Given the description of an element on the screen output the (x, y) to click on. 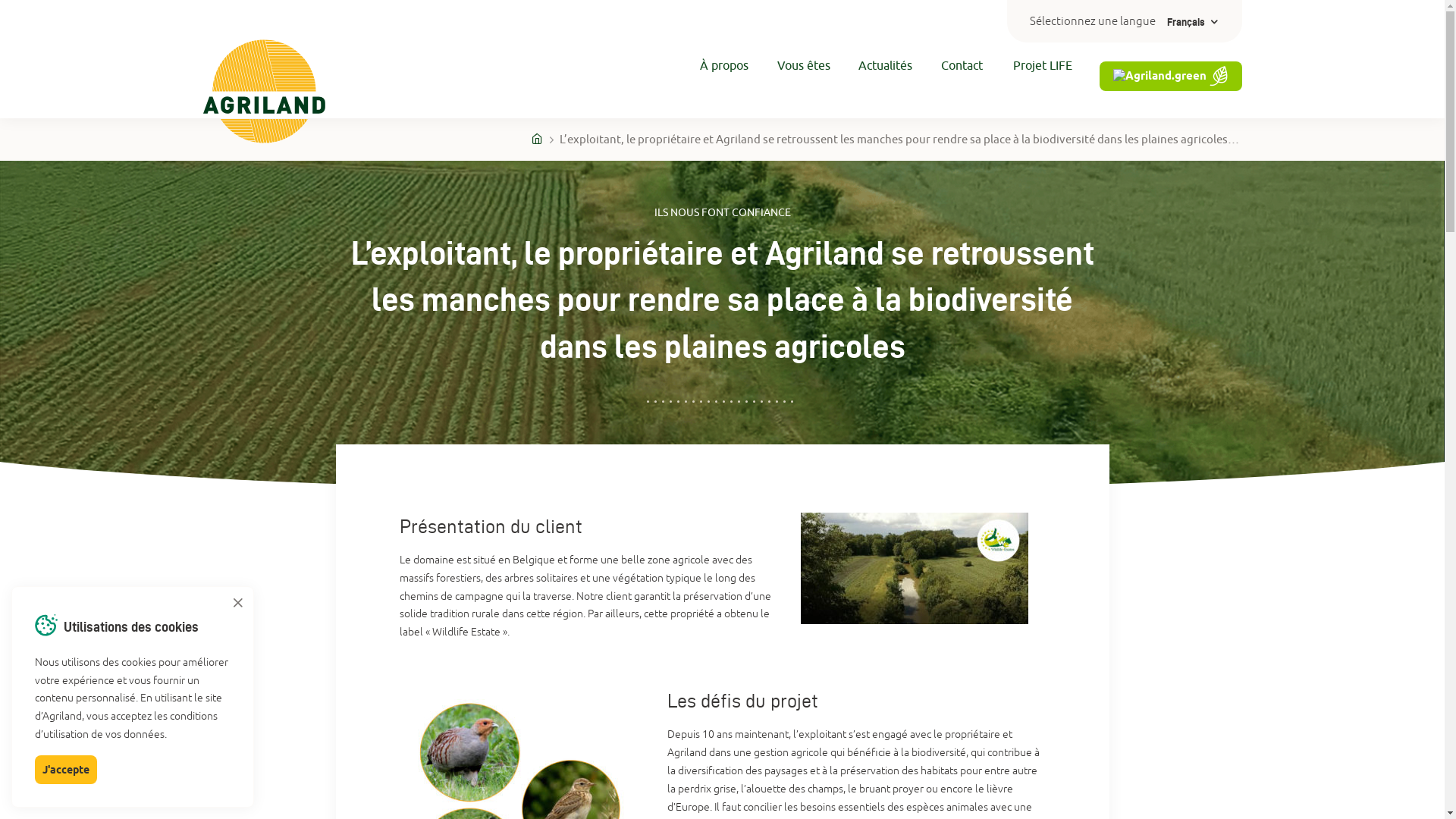
J'accepte Element type: text (65, 769)
Projet LIFE Element type: text (1031, 90)
Retour sur la page d'accueil Element type: hover (264, 94)
Homepage Element type: hover (537, 138)
Contact Element type: text (950, 90)
